Given the description of an element on the screen output the (x, y) to click on. 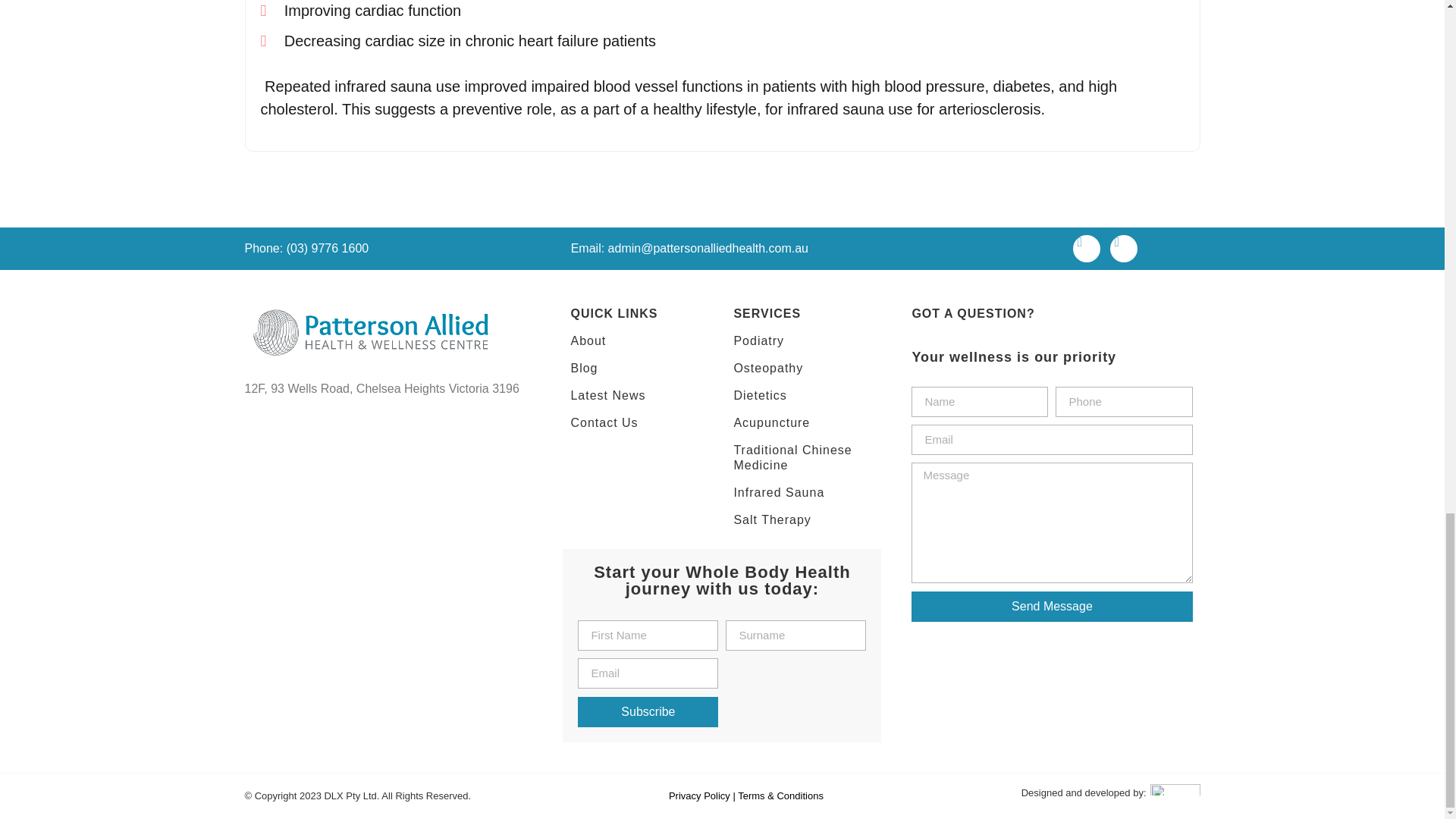
12F, 93 Wells Road, Chelsea Heights Victoria 3196 (388, 519)
About (640, 340)
Blog (640, 368)
Contact Us (640, 422)
Latest News (640, 395)
